Given the description of an element on the screen output the (x, y) to click on. 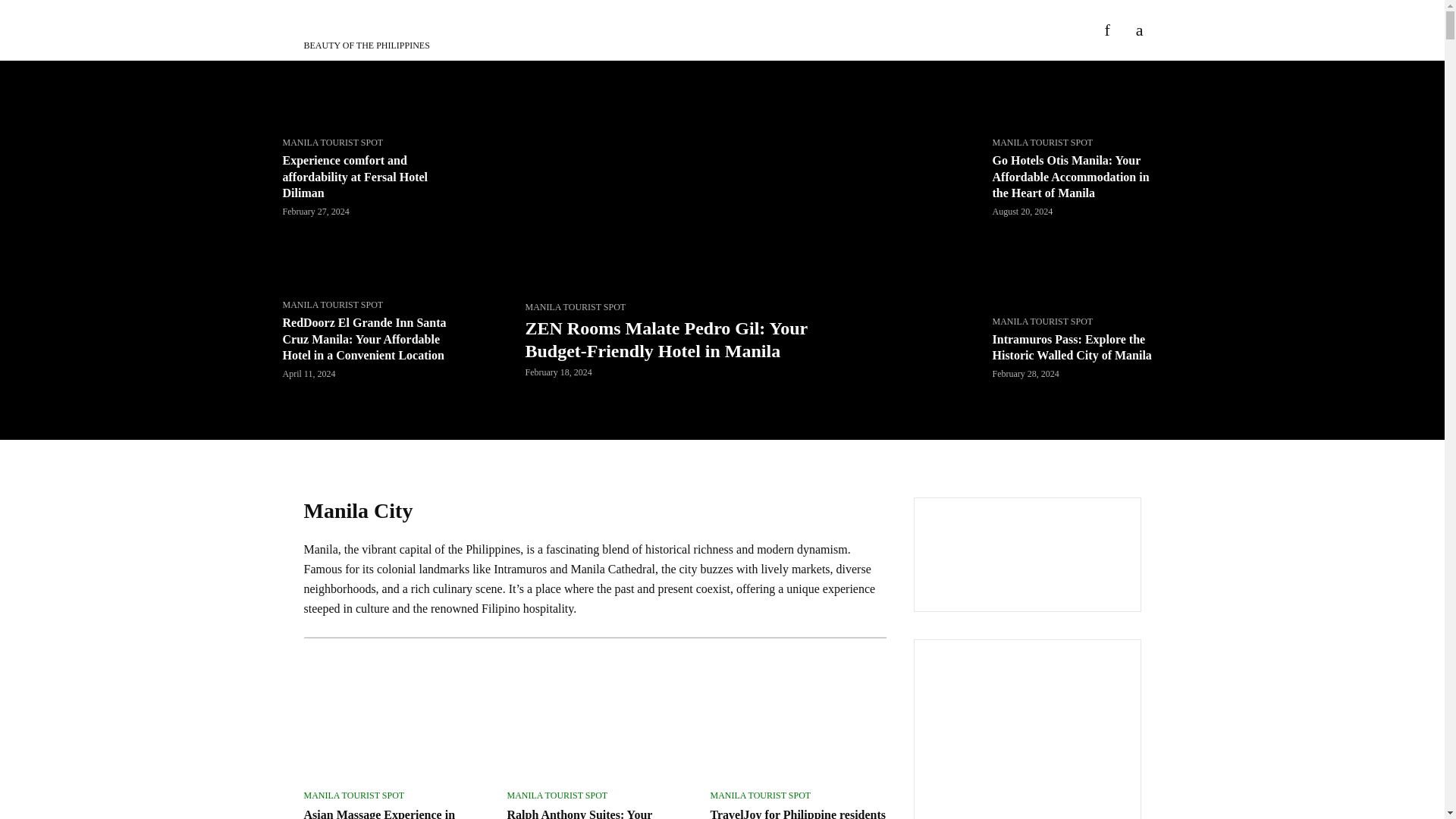
Experience comfort and affordability at Fersal Hotel Diliman (366, 168)
Asian Massage Experience in Manila (390, 728)
Intramuros Pass: Explore the Historic Walled City of Manila (1076, 330)
